Given the description of an element on the screen output the (x, y) to click on. 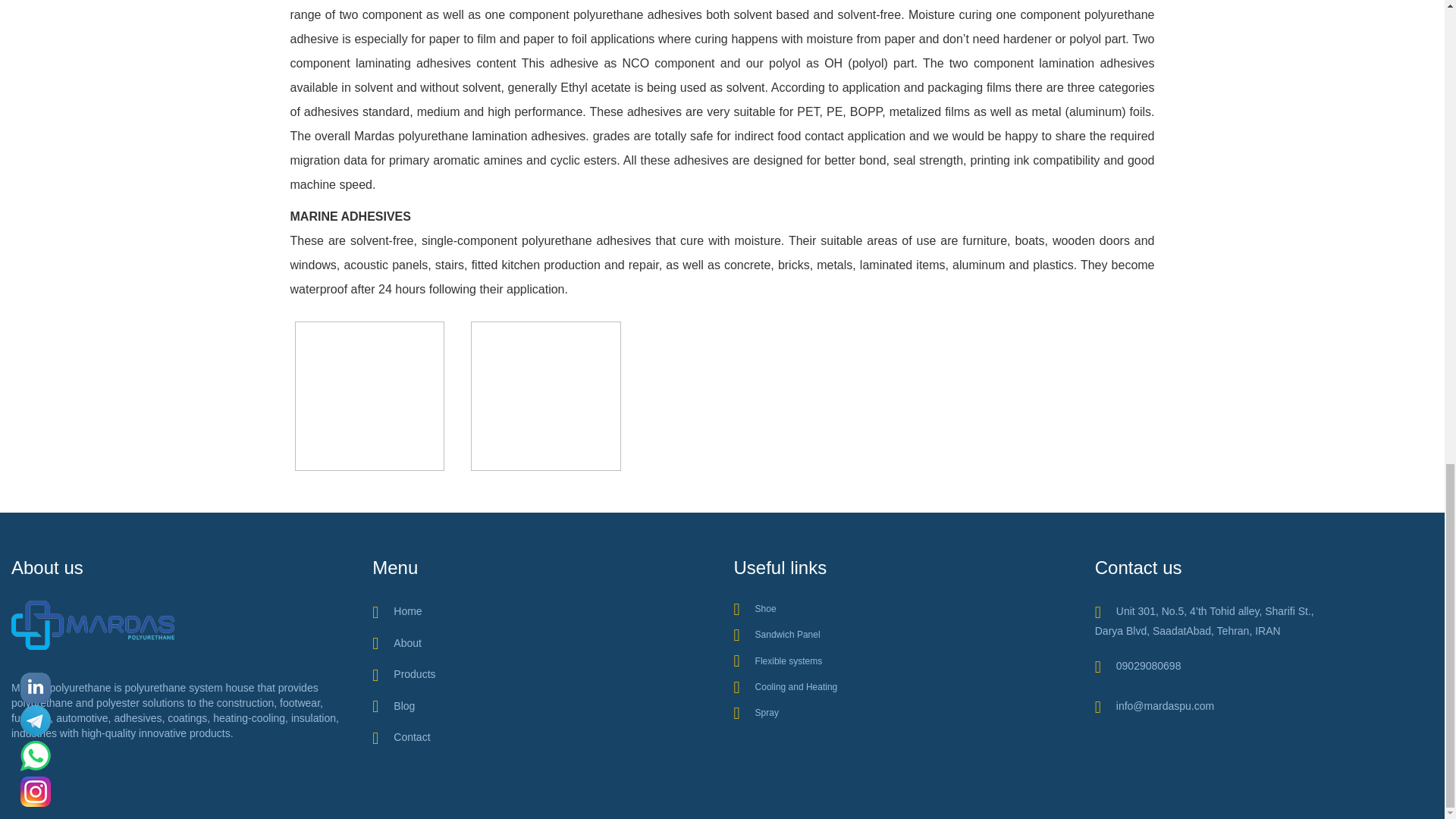
Contact (400, 736)
Home (397, 611)
ahesives (545, 395)
Products (403, 674)
Spray (755, 712)
Flexible systems (777, 661)
Blog (393, 705)
Shoe (754, 608)
Cooling and Heating (785, 686)
Sandwich Panel (777, 634)
About (397, 643)
